Given the description of an element on the screen output the (x, y) to click on. 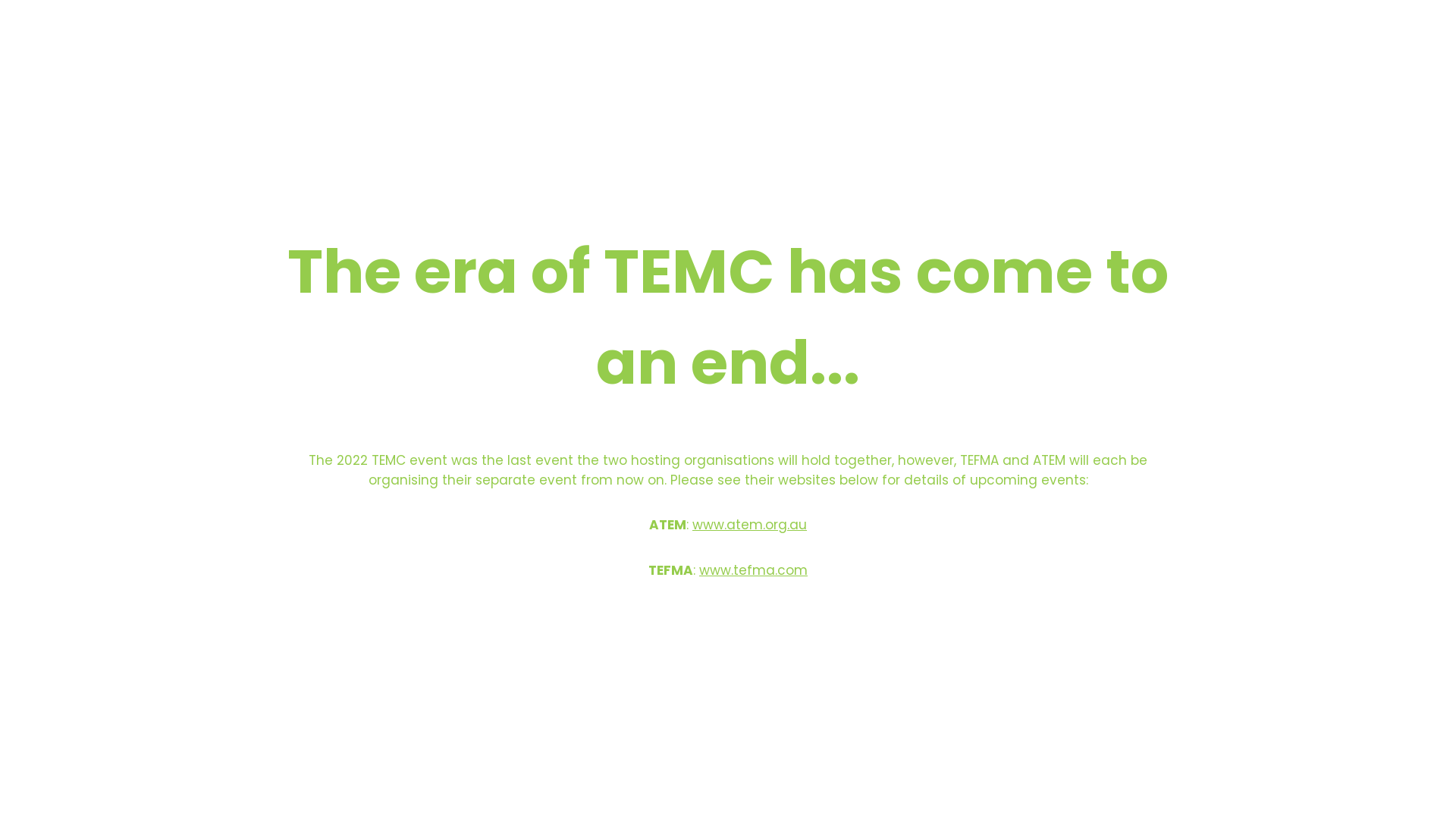
www.tefma.com Element type: text (753, 570)
www.atem.org.au Element type: text (749, 524)
The era of TEMC has come to an end... Element type: text (727, 372)
